Given the description of an element on the screen output the (x, y) to click on. 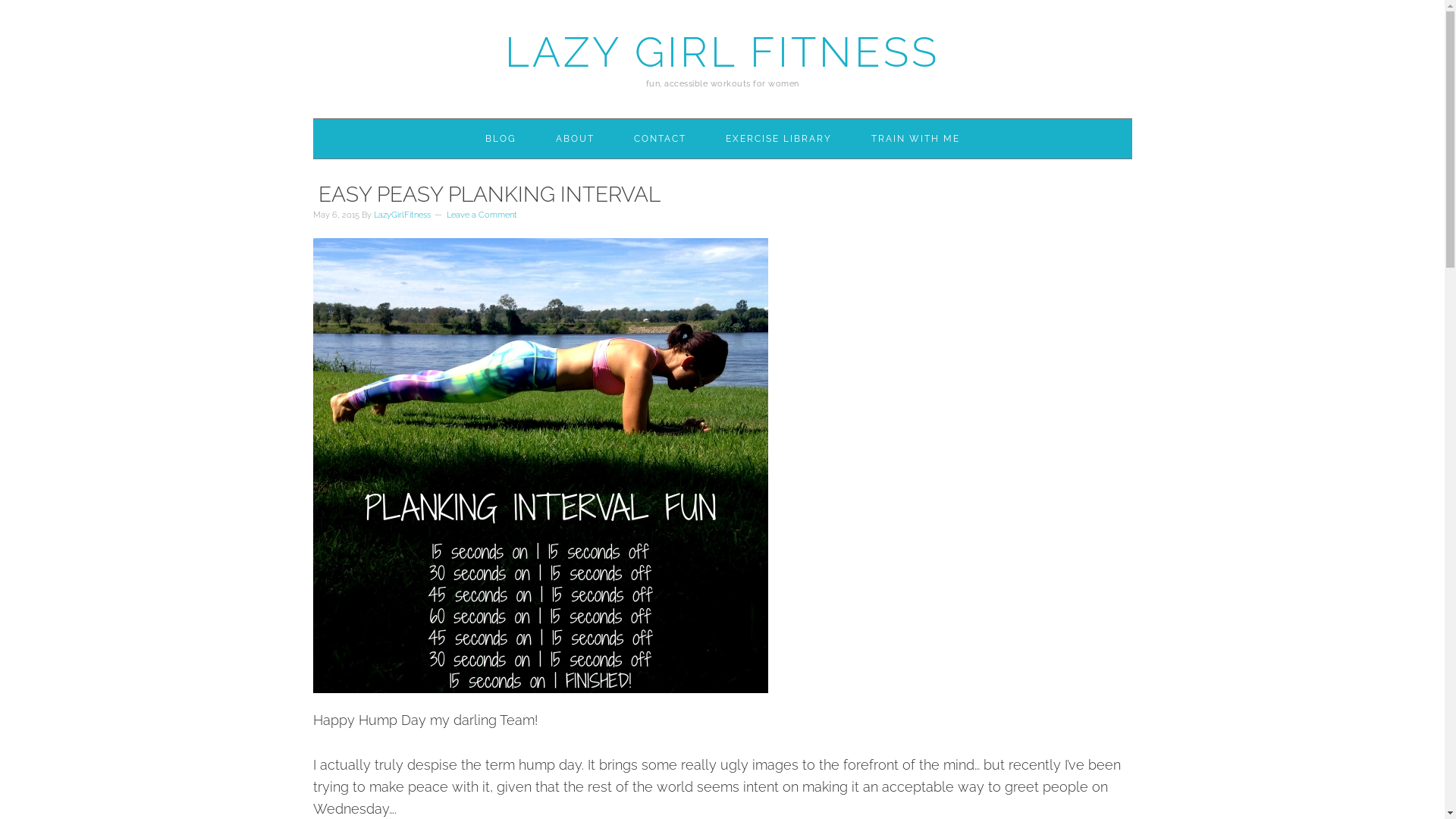
LazyGirlFitness Element type: text (401, 214)
ABOUT Element type: text (574, 138)
BLOG Element type: text (499, 138)
TRAIN WITH ME Element type: text (915, 138)
CONTACT Element type: text (659, 138)
Leave a Comment Element type: text (480, 214)
 EASY PEASY PLANKING INTERVAL Element type: text (485, 194)
LAZY GIRL FITNESS Element type: text (722, 51)
EXERCISE LIBRARY Element type: text (778, 138)
